Given the description of an element on the screen output the (x, y) to click on. 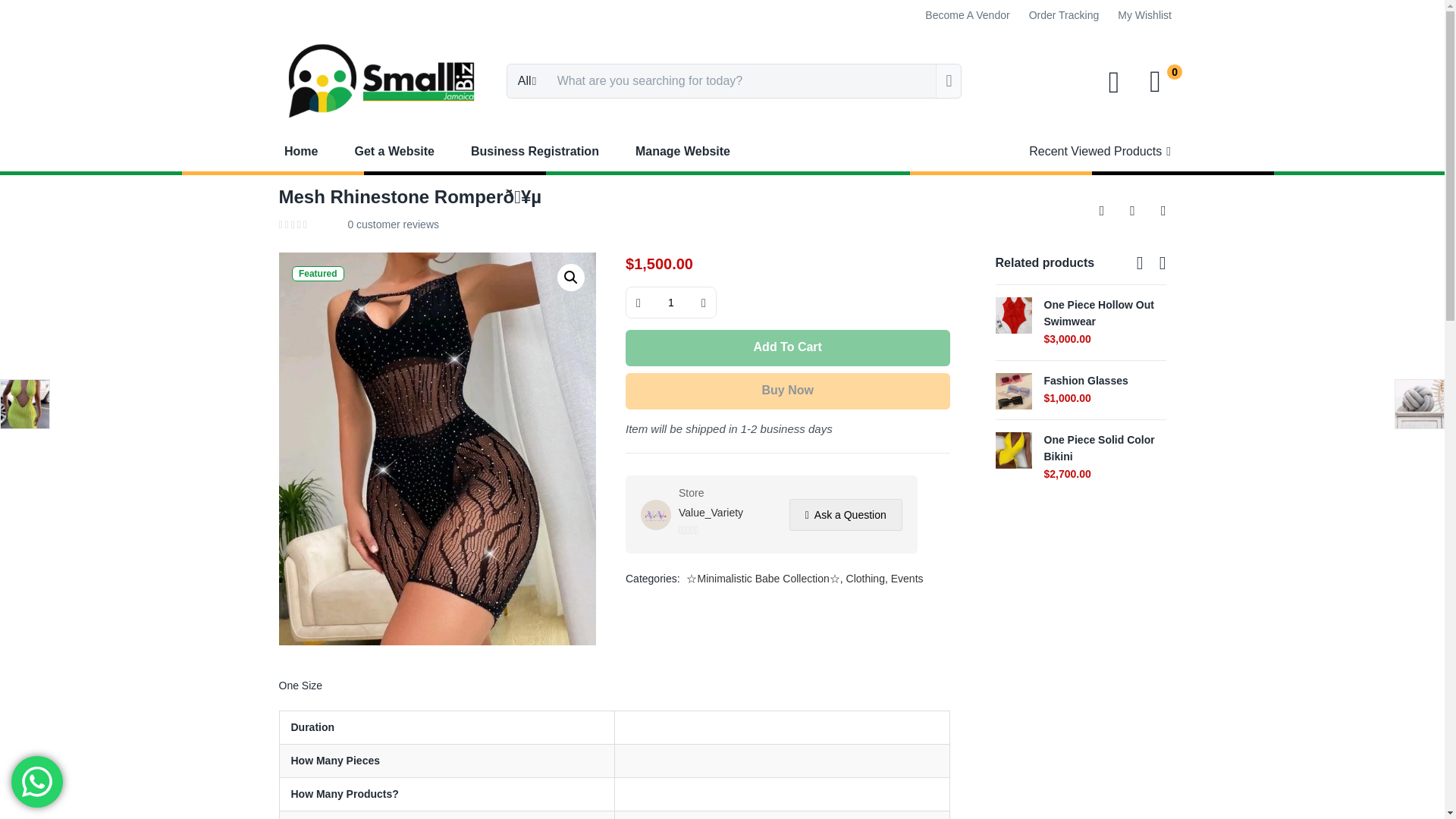
1 (670, 302)
One Piece Solid Color Bikini (1012, 449)
One Piece Hollow Out Swimwear (1012, 314)
Become A Vendor (966, 14)
Manage Website (682, 151)
Get a Website (394, 151)
My Wishlist (1145, 14)
0 customer reviews (393, 224)
No reviews yet! (705, 530)
Order Tracking (1064, 14)
Home (309, 151)
Fashion Glasses (1012, 390)
Business Registration (534, 151)
 All (526, 80)
